Given the description of an element on the screen output the (x, y) to click on. 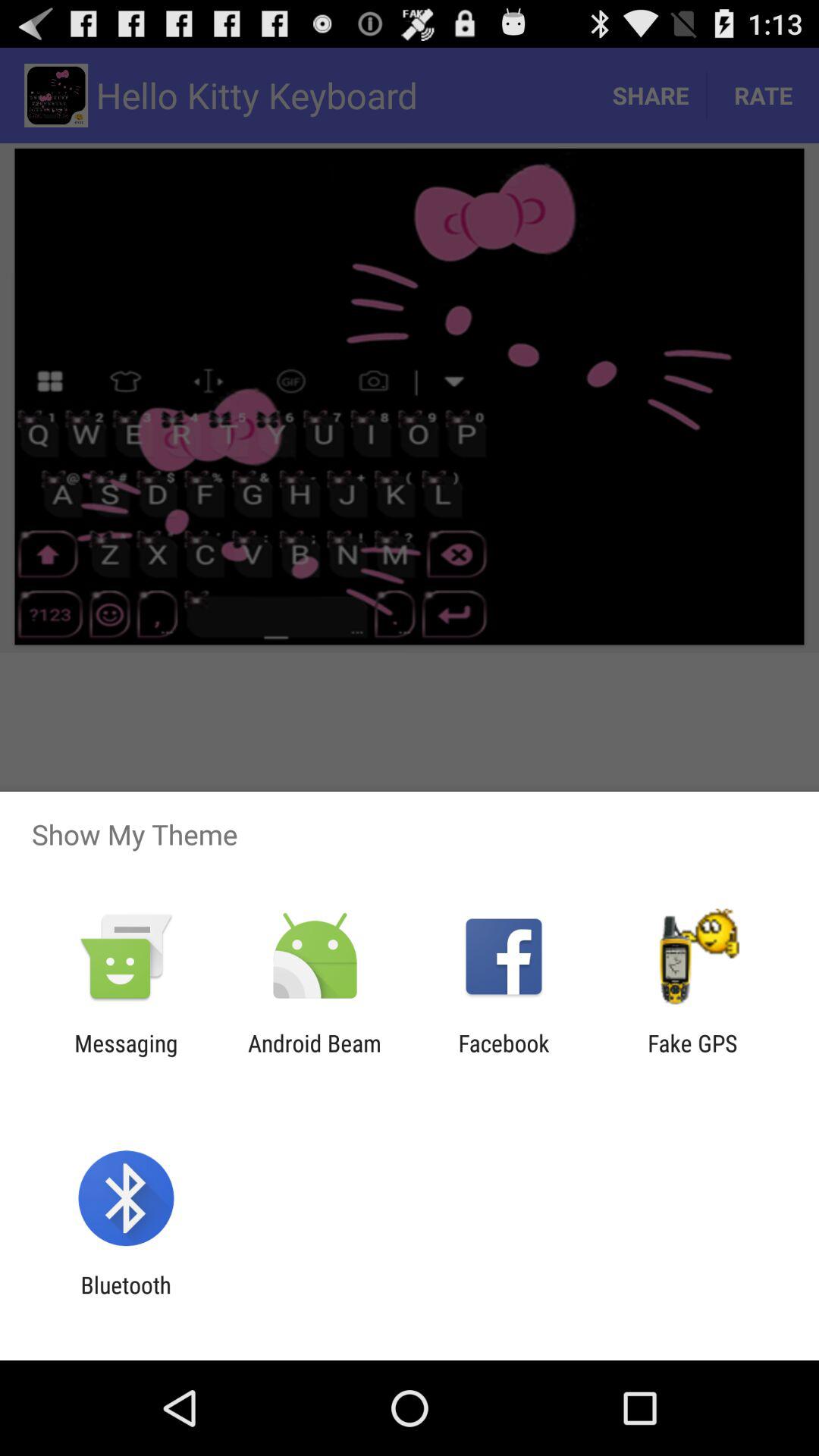
jump until the bluetooth (125, 1298)
